Given the description of an element on the screen output the (x, y) to click on. 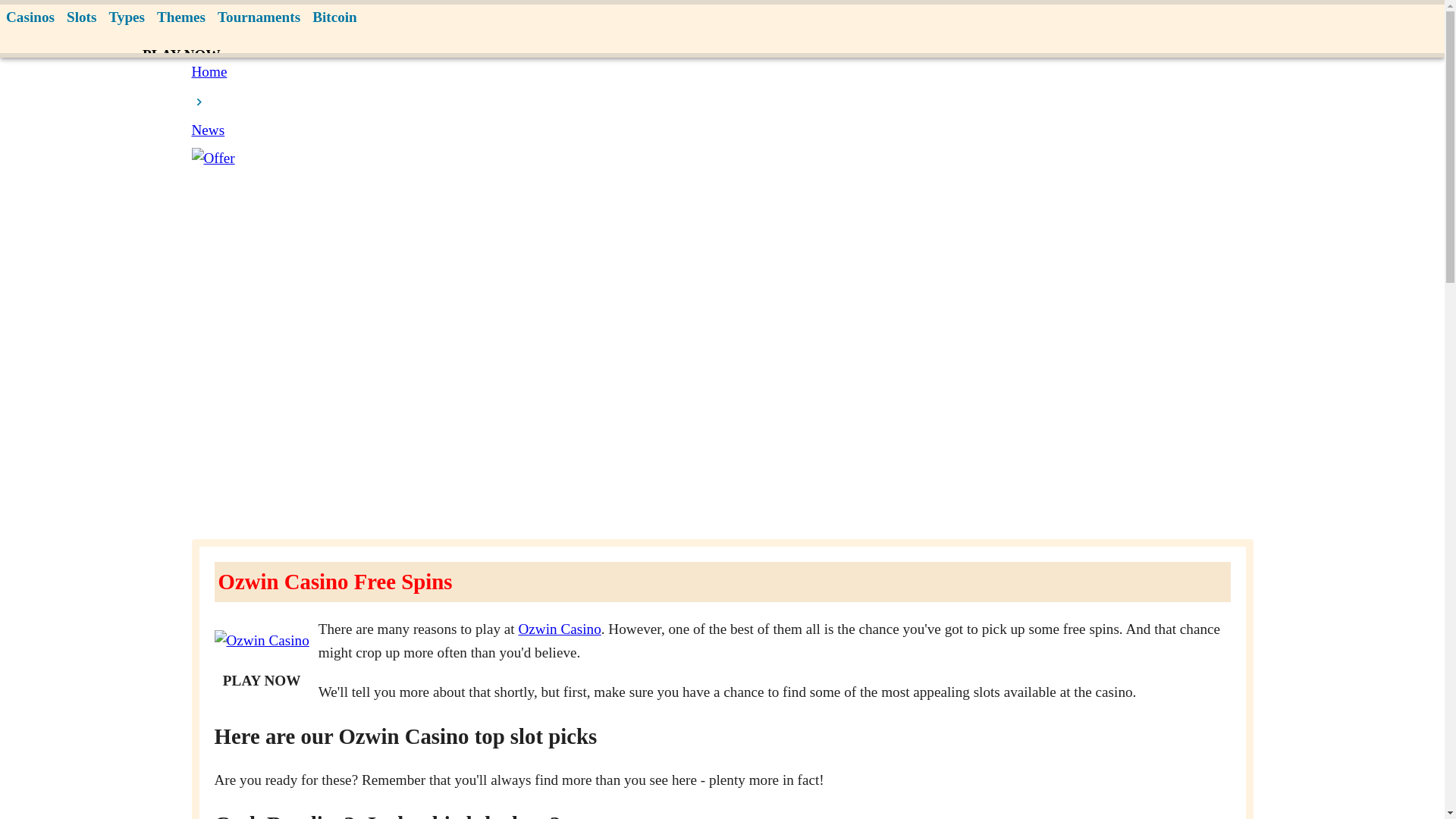
Themes (181, 18)
PLAY NOW (261, 681)
PLAY NOW (181, 55)
Bitcoin (333, 18)
Casinos (30, 18)
Types (126, 18)
Home (208, 71)
Slots (81, 18)
Ozwin Casino (558, 628)
Tournaments (258, 18)
